Given the description of an element on the screen output the (x, y) to click on. 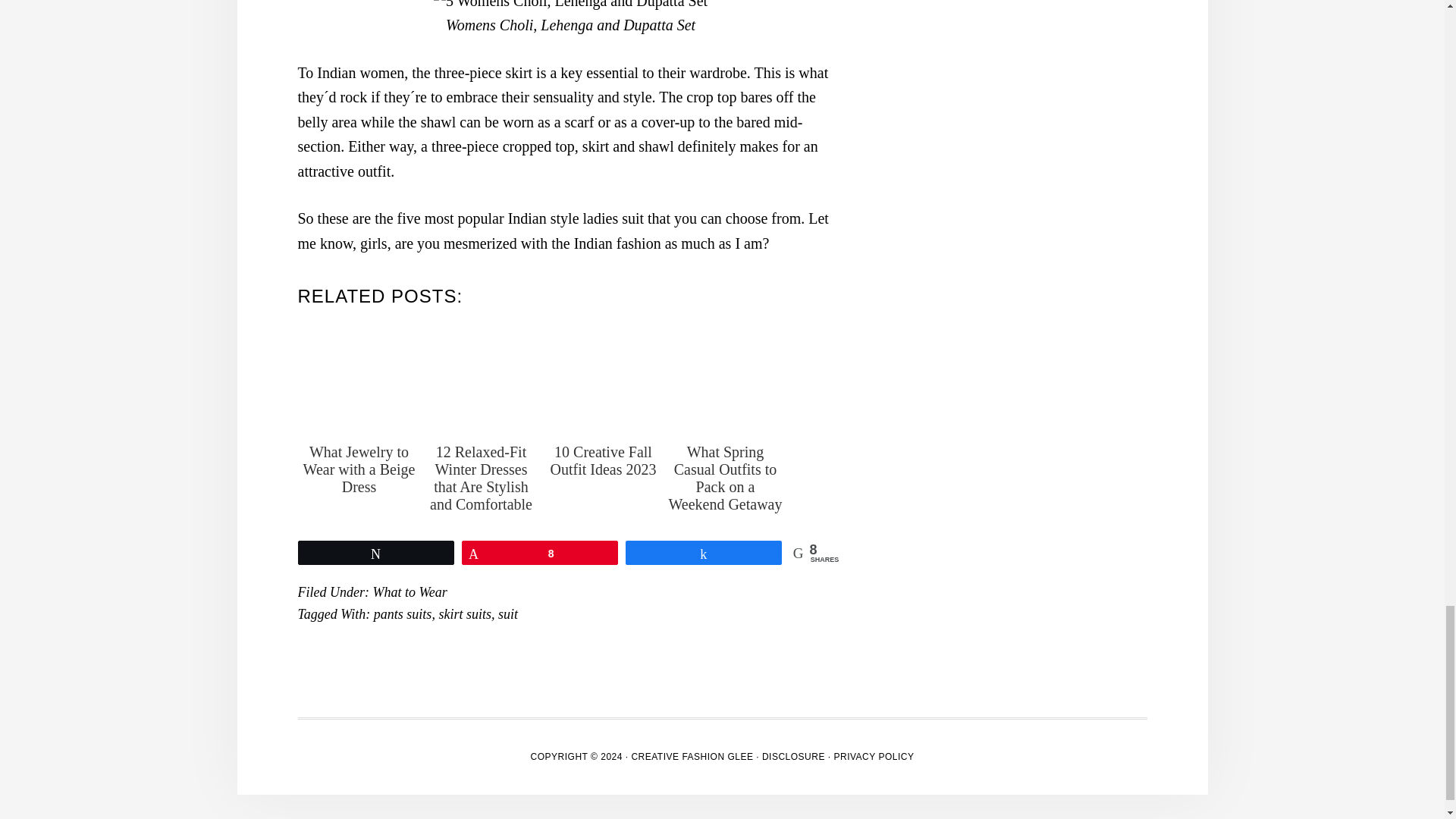
What to Wear (409, 591)
8 (540, 552)
pants suits (403, 613)
skirt suits (465, 613)
